Given the description of an element on the screen output the (x, y) to click on. 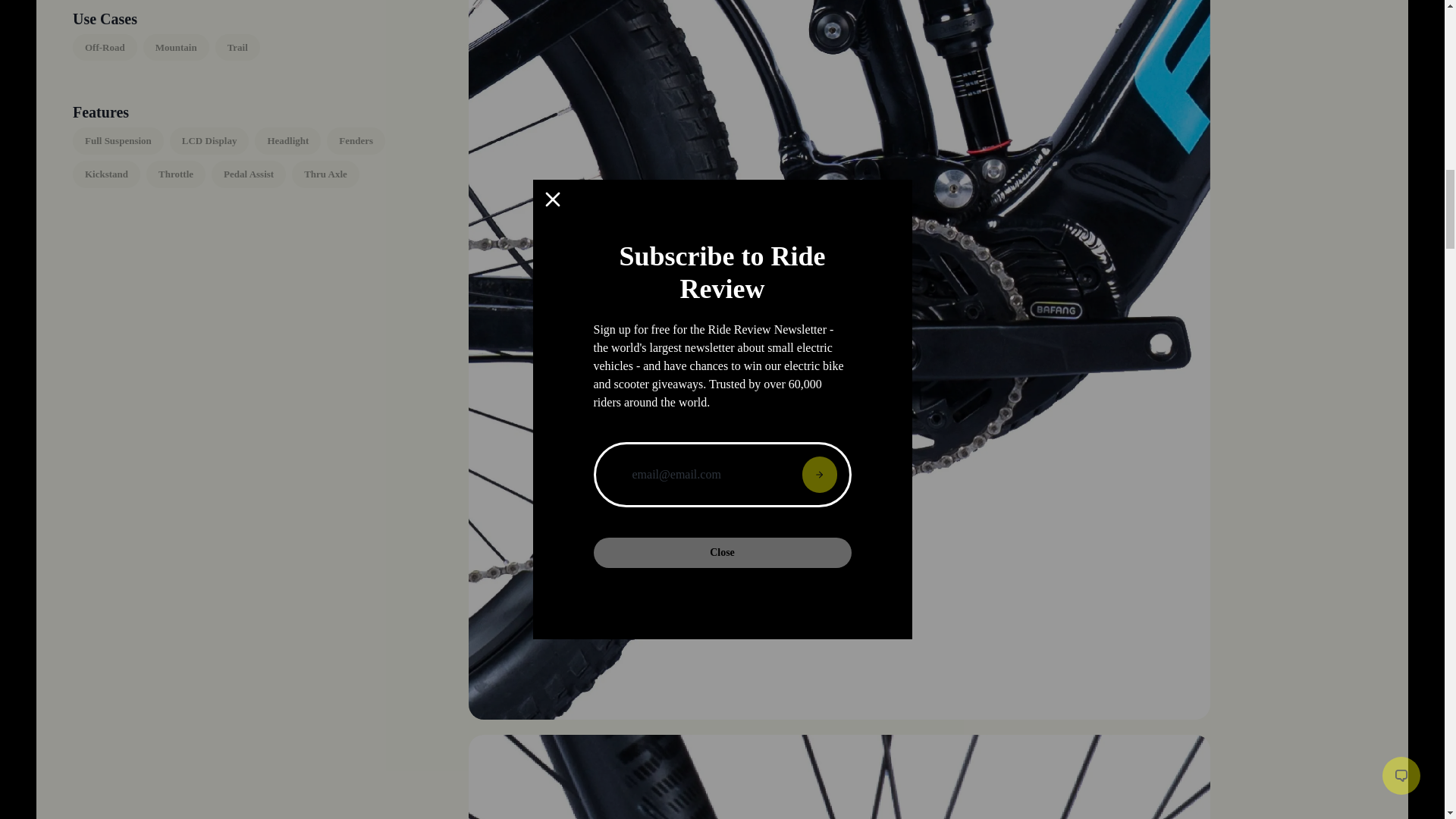
Trail (237, 47)
Kickstand (105, 174)
Fenders (355, 140)
Full Suspension (117, 140)
Off-Road (104, 47)
Mountain (175, 47)
Headlight (287, 140)
LCD Display (209, 140)
